Given the description of an element on the screen output the (x, y) to click on. 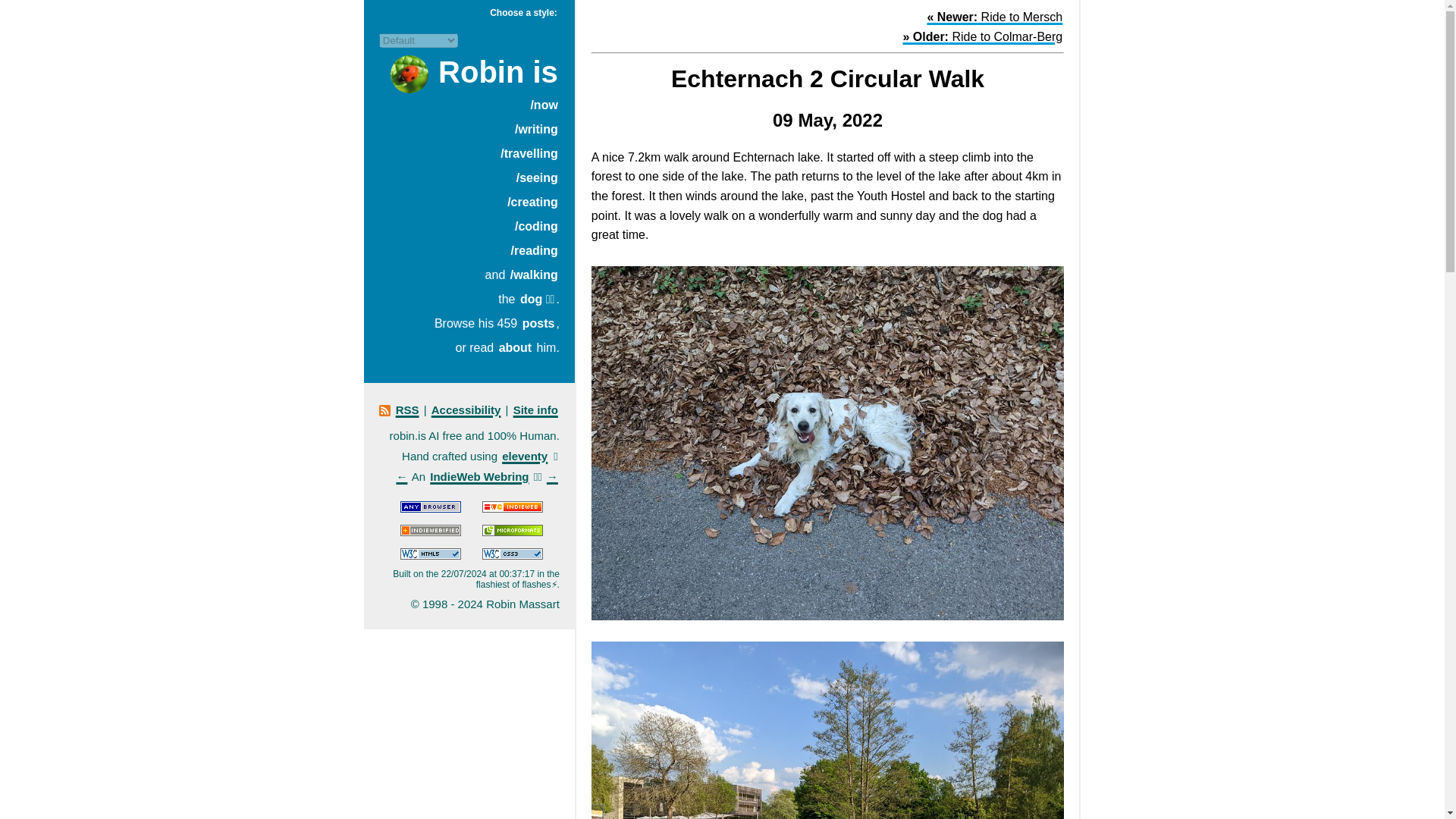
about (515, 347)
eleventy (524, 455)
Site info (535, 409)
IndieWeb Webring (478, 476)
Accessibility (465, 409)
posts (538, 323)
RSS (407, 409)
Robin is (497, 72)
